Given the description of an element on the screen output the (x, y) to click on. 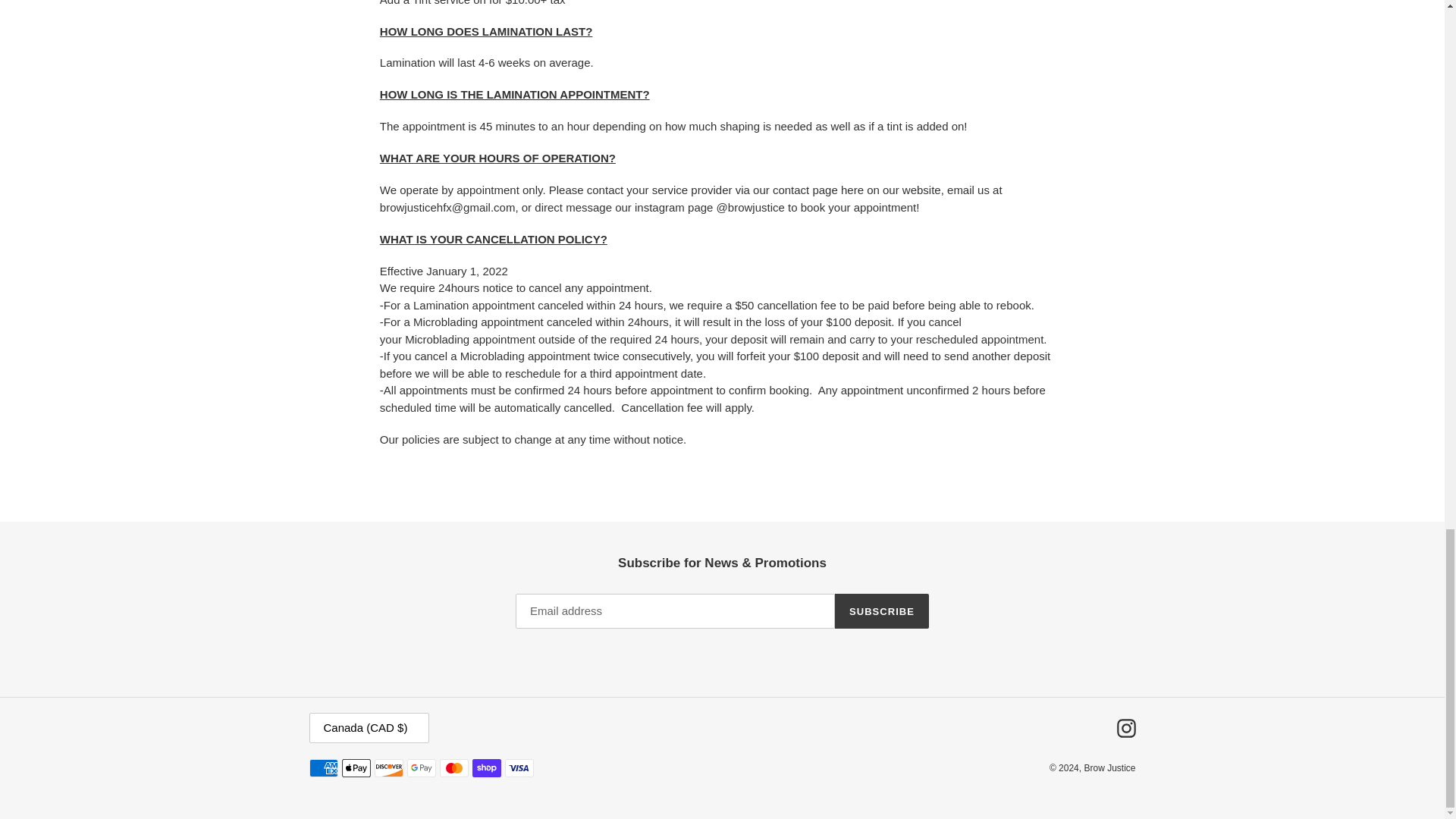
SUBSCRIBE (881, 610)
